Given the description of an element on the screen output the (x, y) to click on. 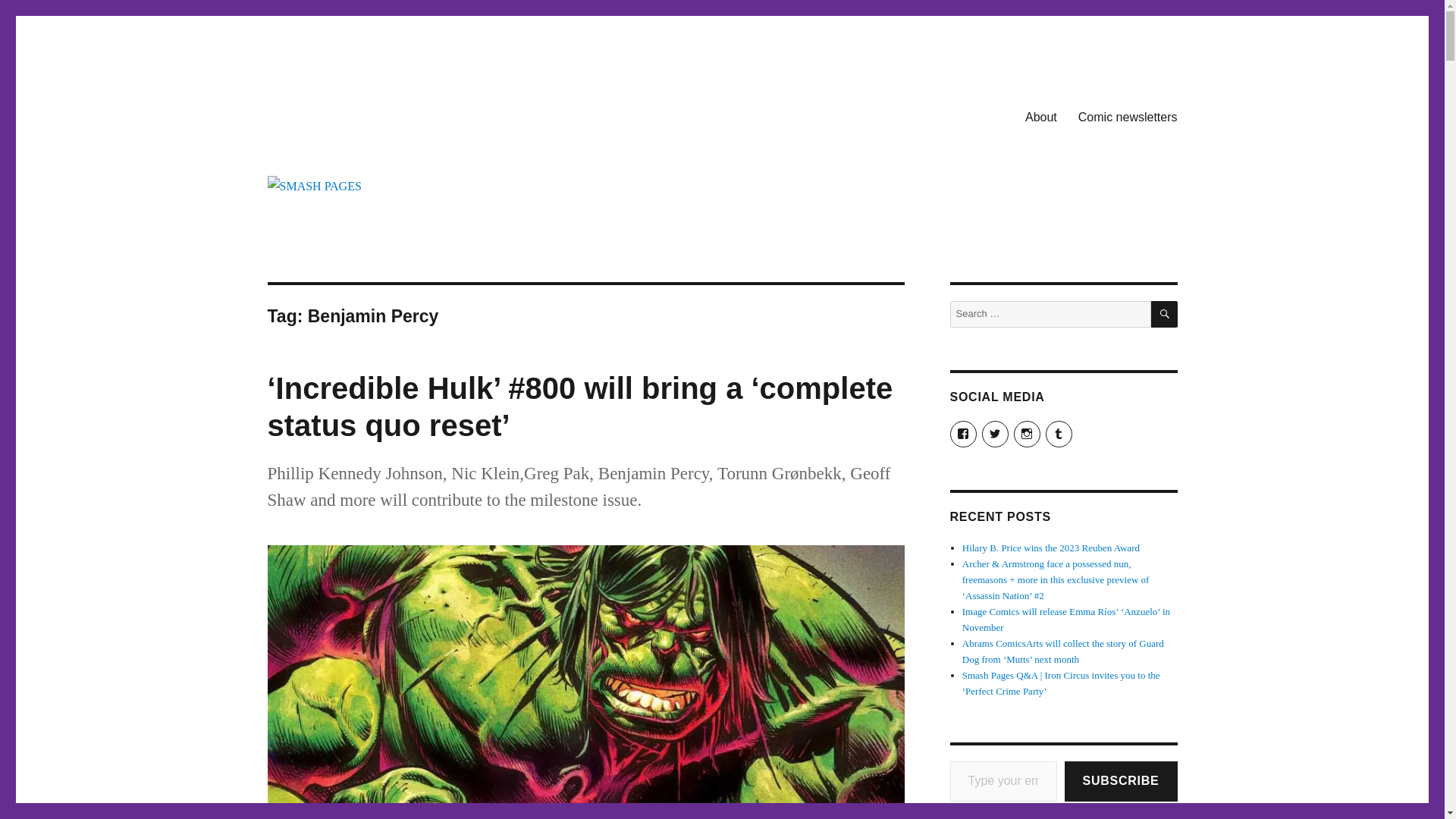
About (1040, 116)
SMASH PAGES (344, 114)
Comic newsletters (1127, 116)
